Given the description of an element on the screen output the (x, y) to click on. 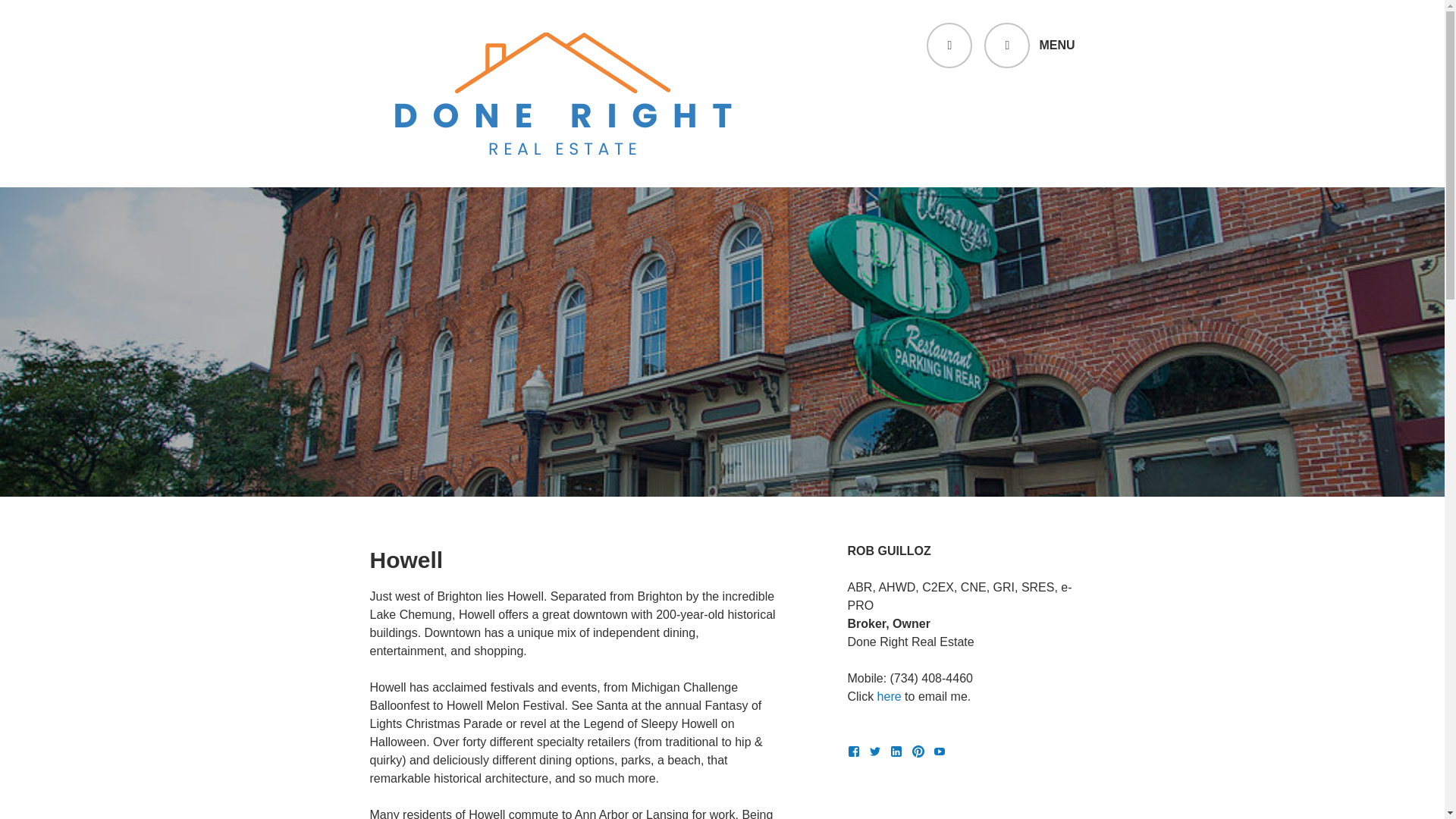
SEARCH (949, 44)
MENU (1029, 44)
DONE RIGHT REAL ESTATE (551, 189)
